Given the description of an element on the screen output the (x, y) to click on. 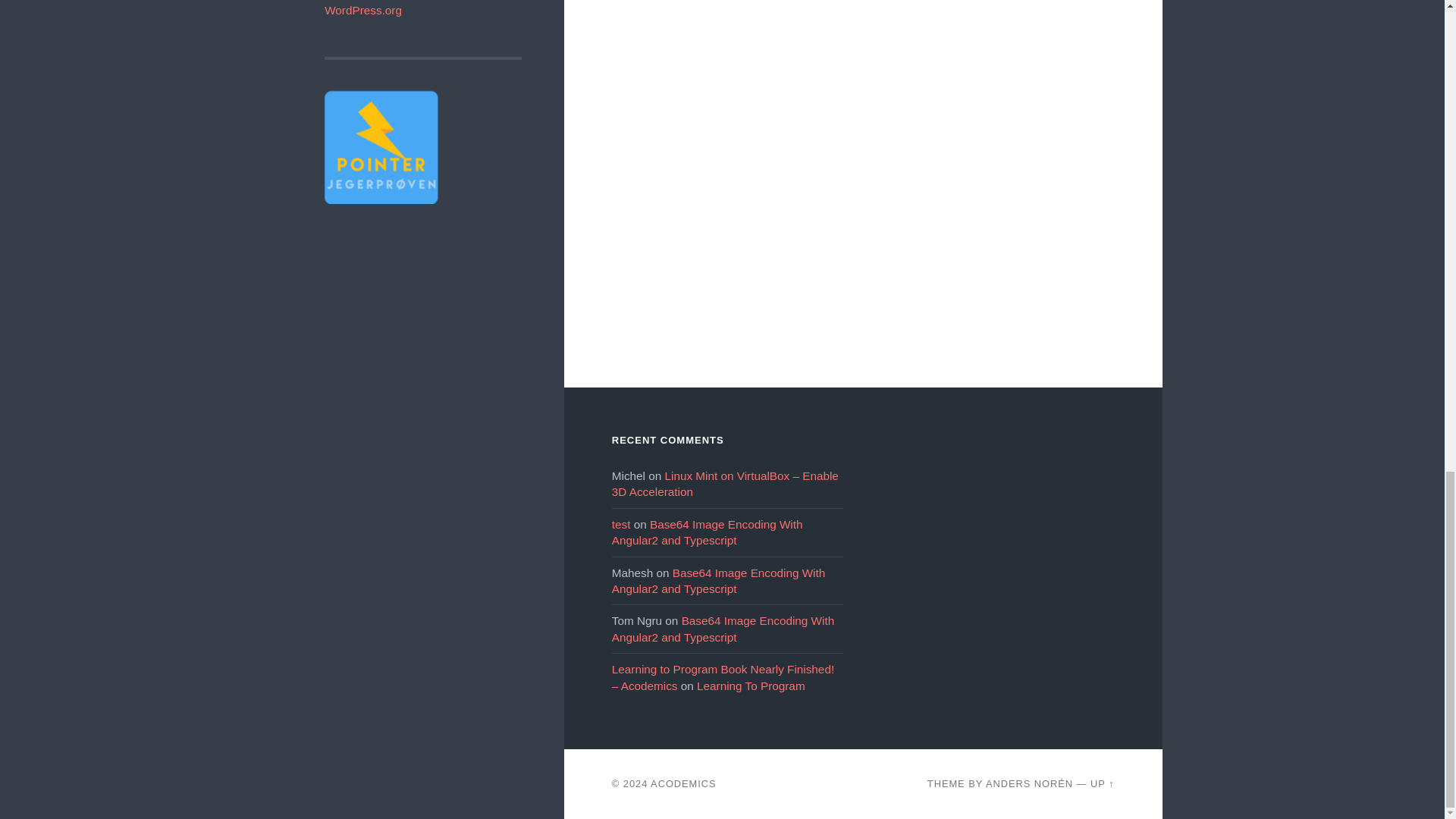
Acodemics (683, 783)
test (620, 523)
WordPress.org (362, 10)
To the top (1102, 783)
